Given the description of an element on the screen output the (x, y) to click on. 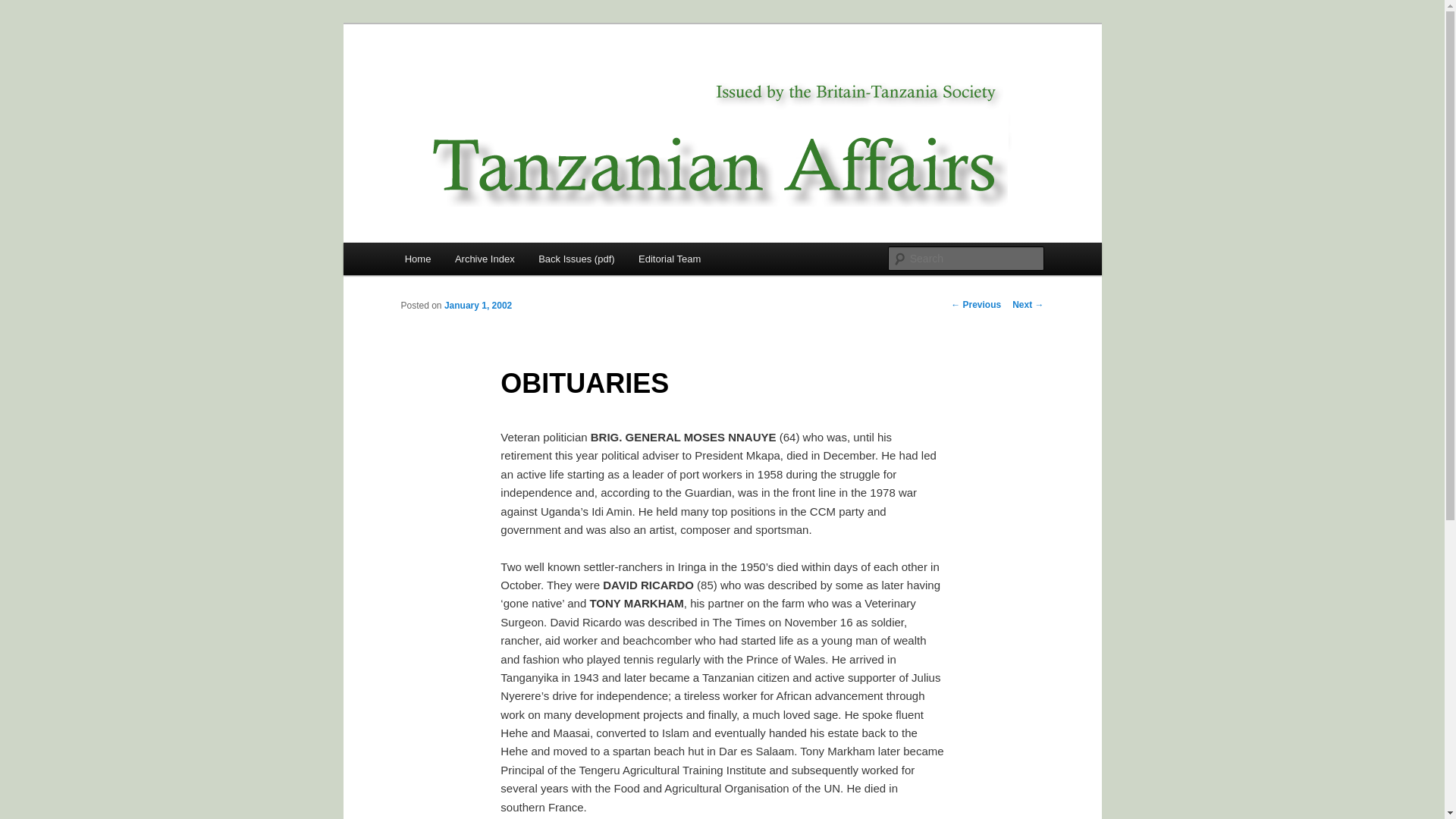
Archive Index (483, 258)
Tanzanian Affairs (494, 78)
Home (417, 258)
Editorial Team (669, 258)
January 1, 2002 (478, 305)
Search (24, 8)
